Given the description of an element on the screen output the (x, y) to click on. 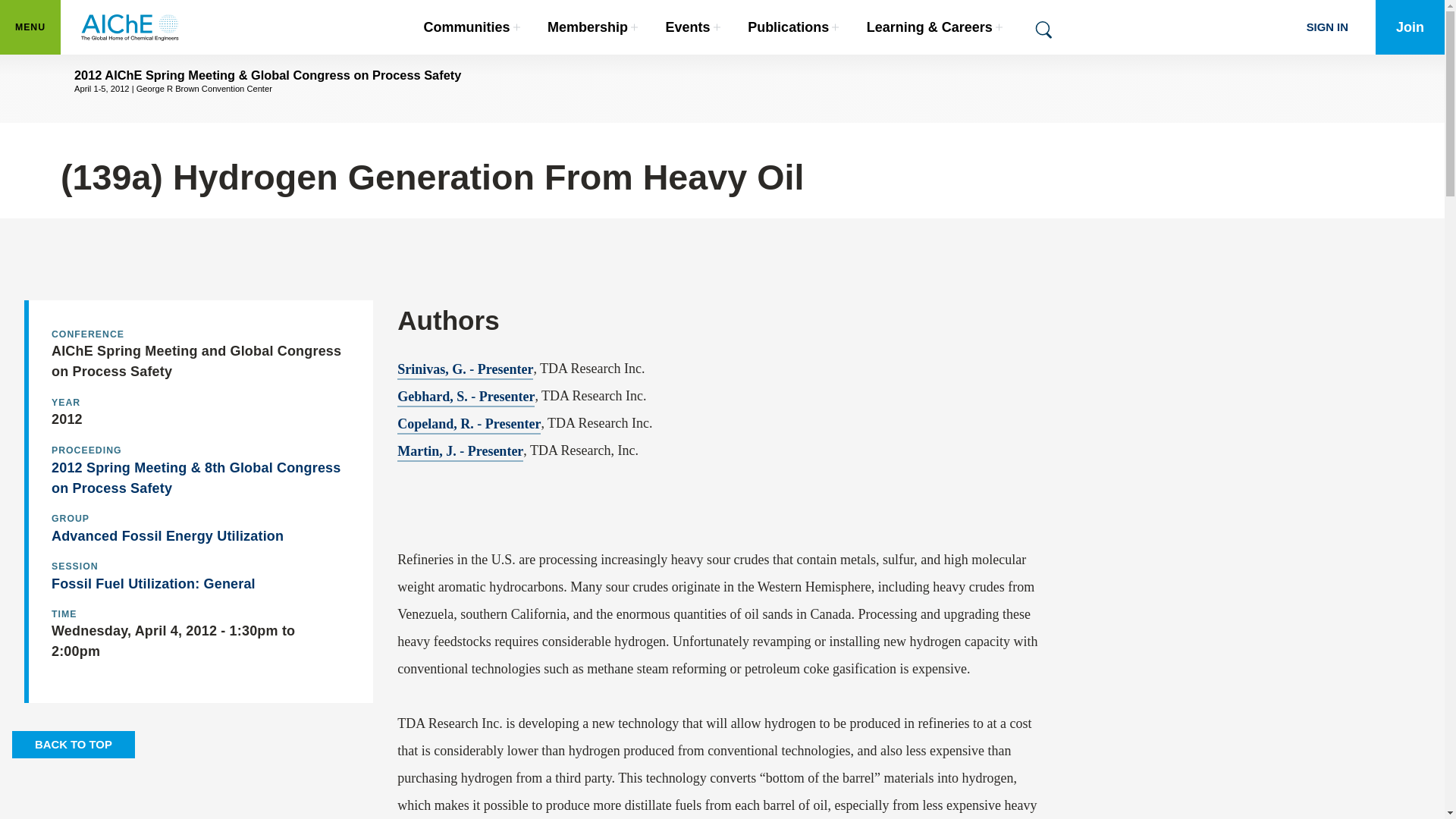
Go to AIChE Home (130, 27)
Skip to main content (472, 27)
